Given the description of an element on the screen output the (x, y) to click on. 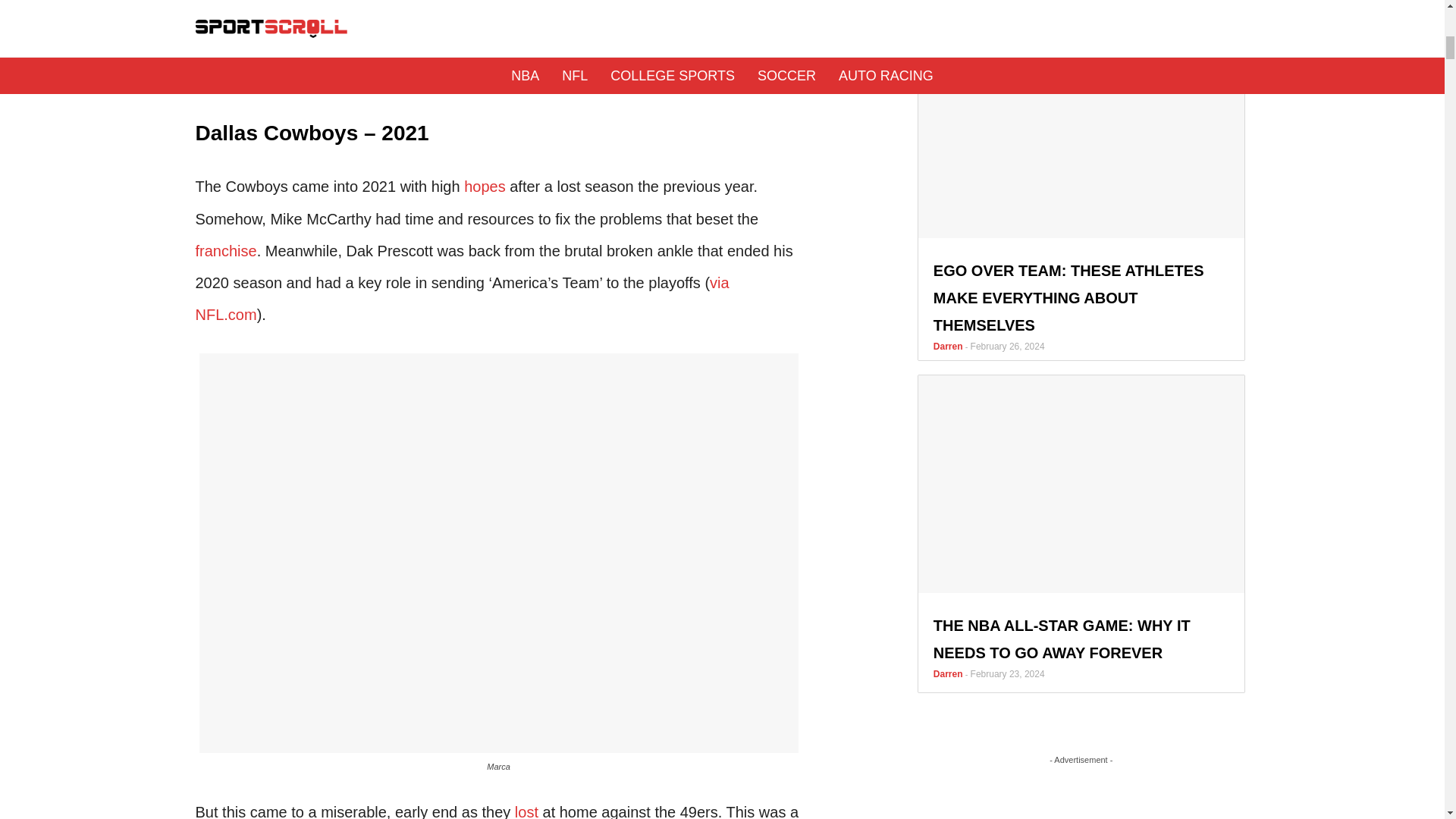
lost (526, 811)
franchise (226, 250)
via NFL.com (462, 298)
hopes (484, 186)
